Given the description of an element on the screen output the (x, y) to click on. 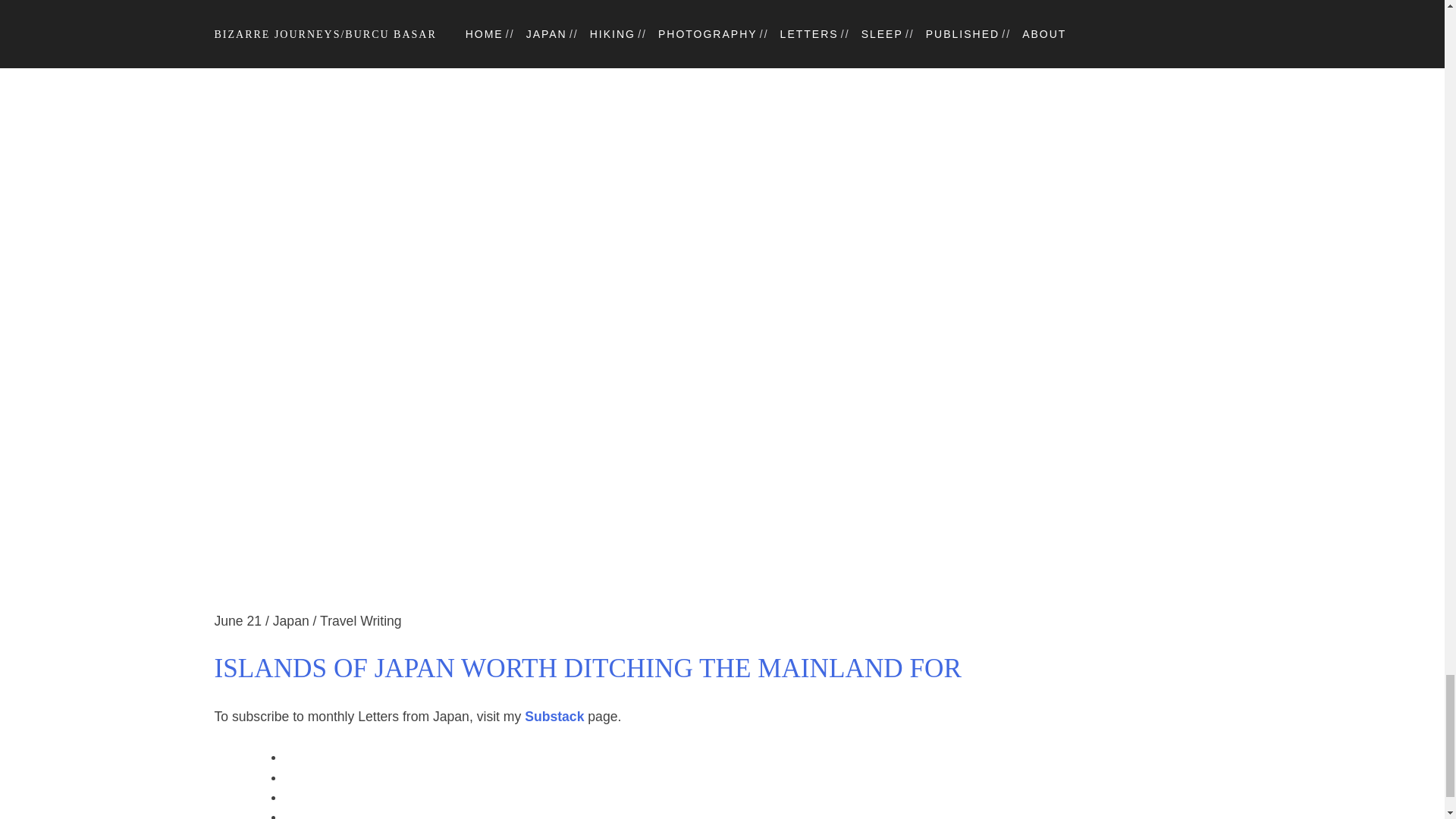
ISLANDS OF JAPAN WORTH DITCHING THE MAINLAND FOR (722, 669)
Islands of Japan Worth Ditching the Mainland For (722, 601)
Islands of Japan Worth Ditching the Mainland For (722, 669)
Substack (553, 716)
